Given the description of an element on the screen output the (x, y) to click on. 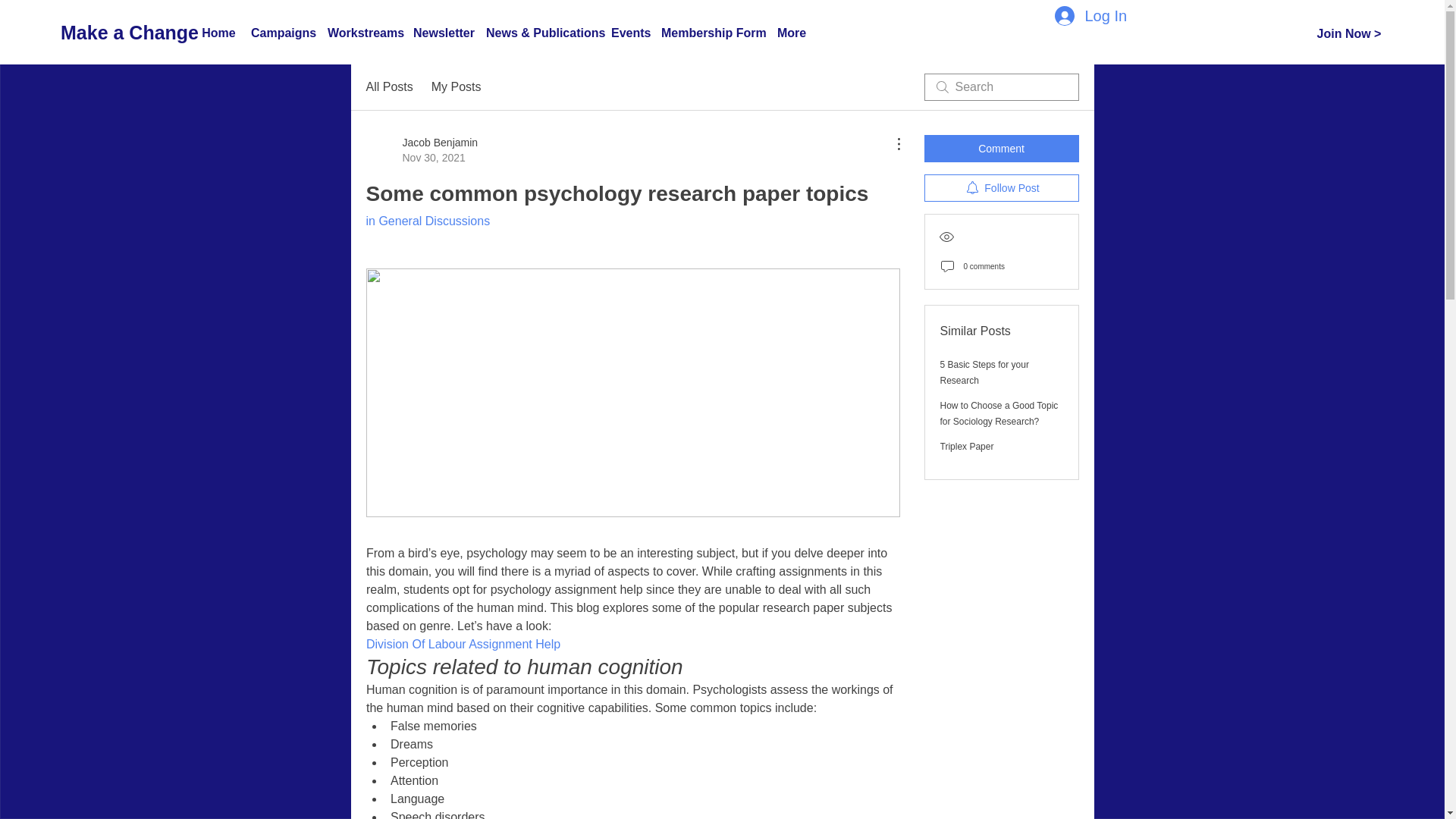
5 Basic Steps for your Research (984, 372)
Make a Change (129, 32)
Workstreams (363, 33)
My Posts (455, 86)
Follow Post (1000, 187)
Events (628, 33)
Division Of Labour Assignment Help (462, 644)
Triplex Paper (967, 446)
Newsletter (442, 33)
All Posts (388, 86)
